Given the description of an element on the screen output the (x, y) to click on. 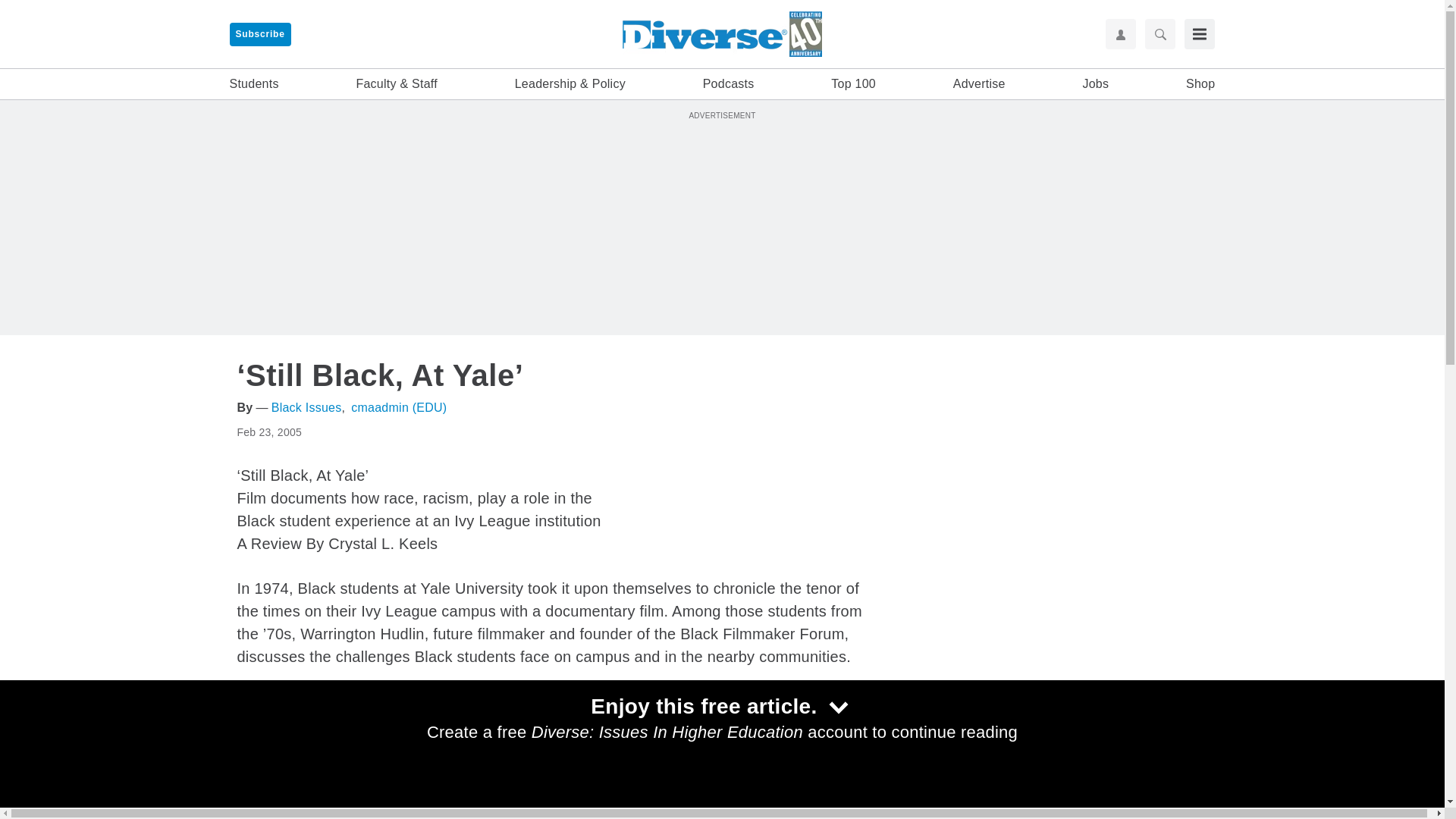
Subscribe (258, 33)
Subscribe (258, 33)
Podcasts (728, 84)
Jobs (1094, 84)
Top 100 (853, 84)
Students (253, 84)
Advertise (979, 84)
Shop (1200, 84)
